Given the description of an element on the screen output the (x, y) to click on. 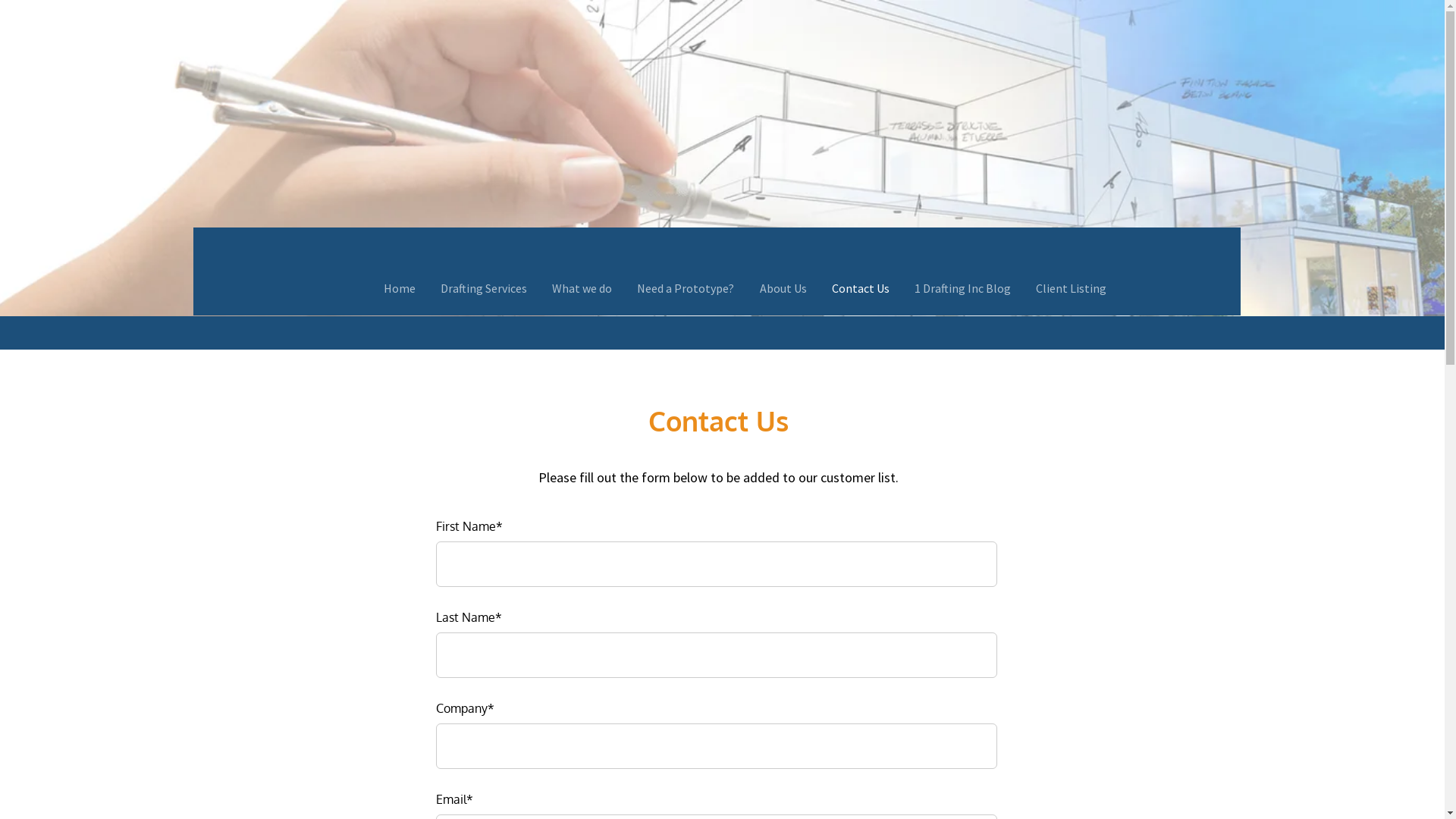
Need a Prototype? Element type: text (685, 287)
Client Listing Element type: text (1070, 287)
Home Element type: text (399, 287)
What we do Element type: text (581, 287)
About Us Element type: text (782, 287)
Drafting Services Element type: text (483, 287)
Contact Us Element type: text (860, 287)
1 Drafting Inc Blog Element type: text (961, 287)
